Given the description of an element on the screen output the (x, y) to click on. 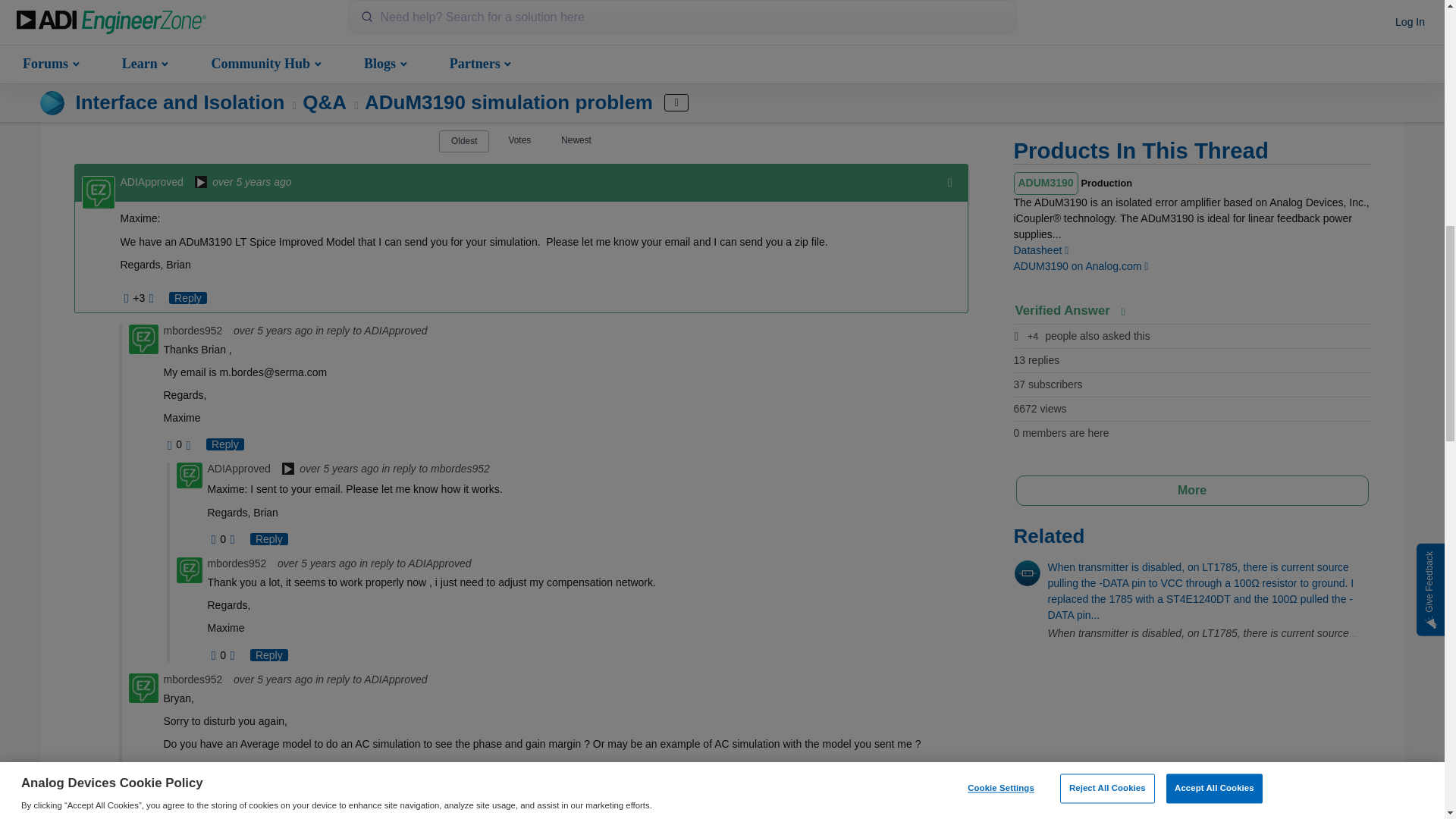
Analog Employees (200, 183)
Analog Employees (288, 469)
